Given the description of an element on the screen output the (x, y) to click on. 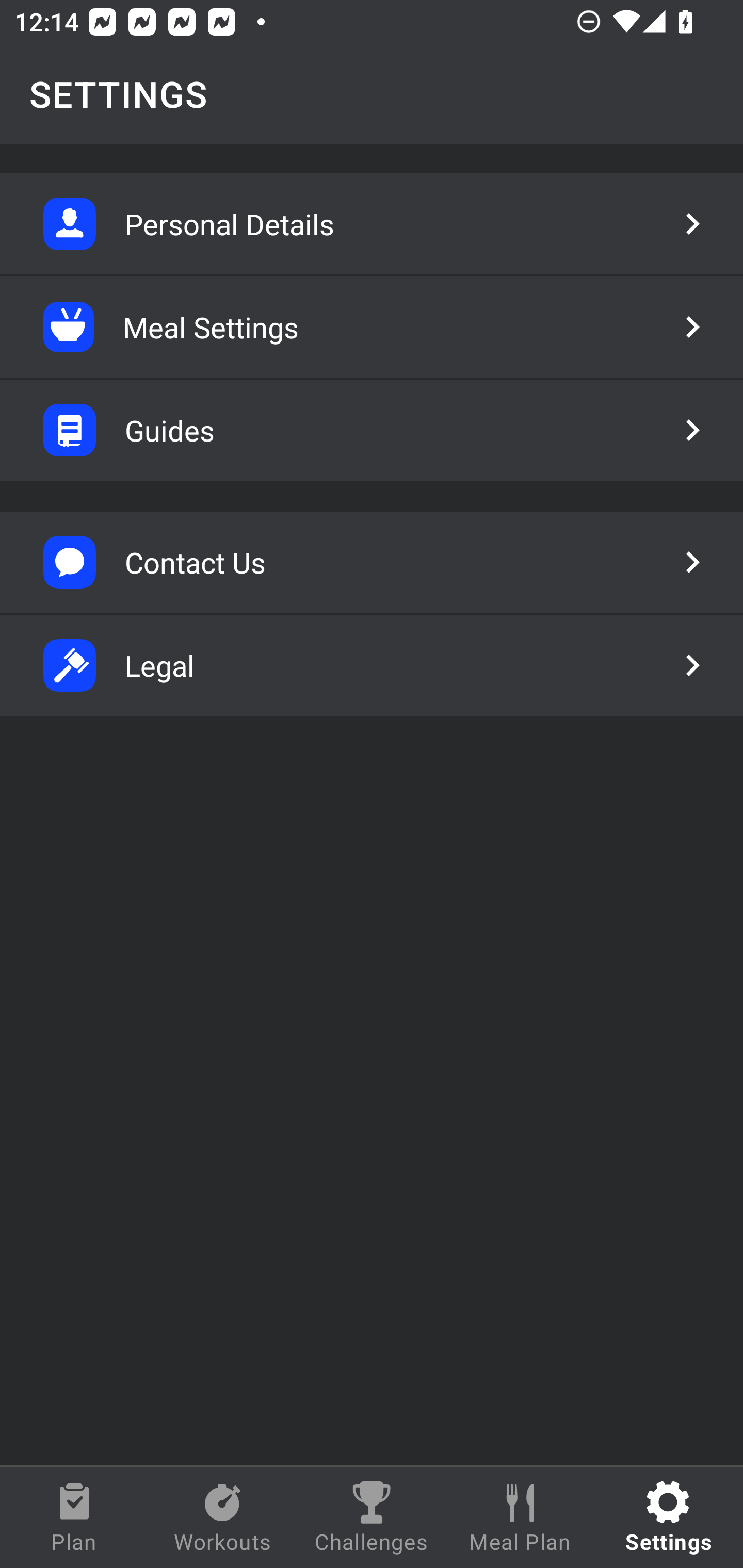
Personal Details (371, 224)
Meal Settings (371, 326)
Guides (371, 430)
Contact Us (371, 562)
Legal (371, 665)
 Plan  (74, 1517)
 Workouts  (222, 1517)
 Challenges  (371, 1517)
 Meal Plan  (519, 1517)
